Given the description of an element on the screen output the (x, y) to click on. 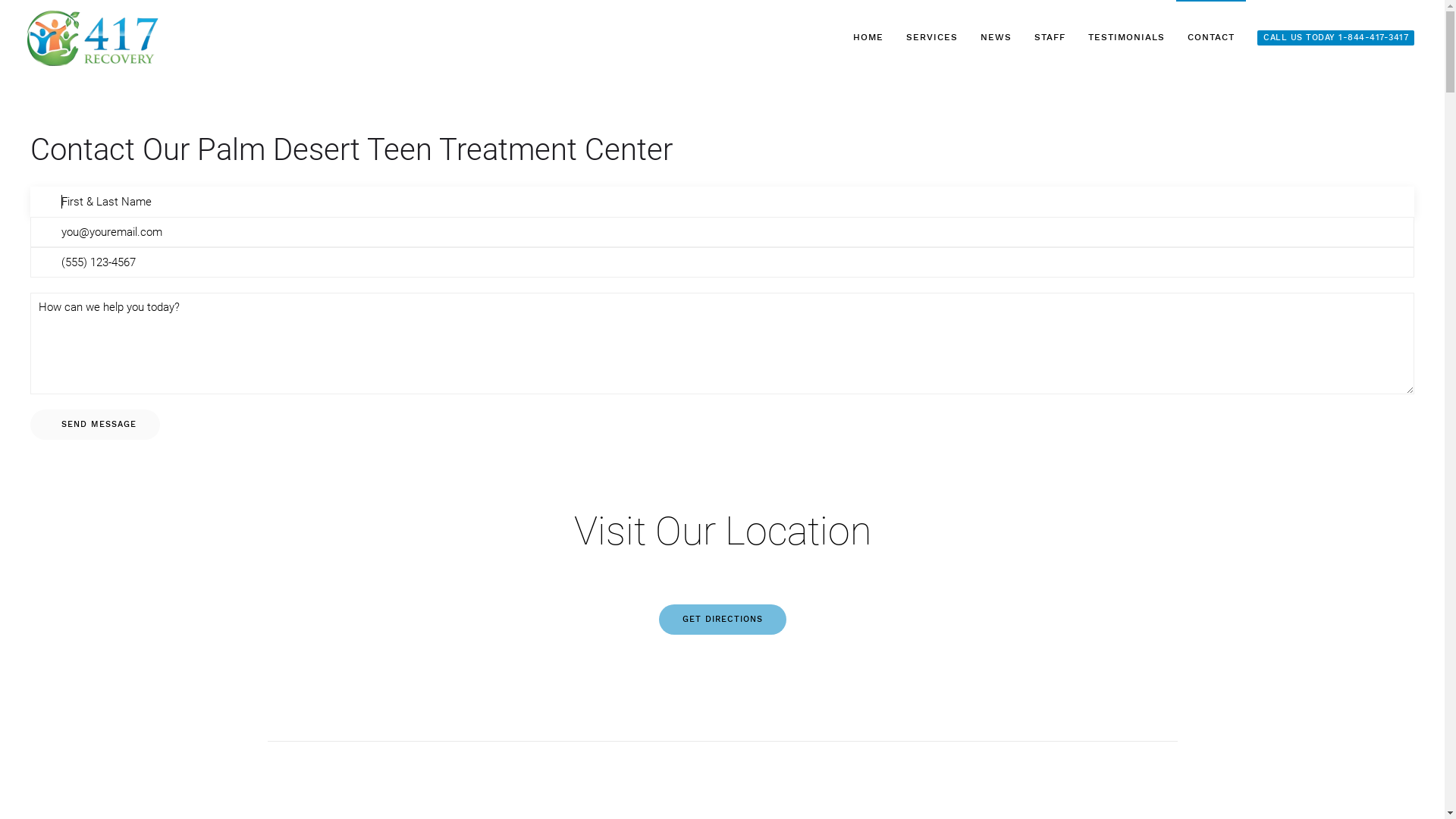
TESTIMONIALS Element type: text (1126, 37)
SERVICES Element type: text (931, 37)
STAFF Element type: text (1049, 37)
  SEND MESSAGE Element type: text (95, 424)
CONTACT Element type: text (1210, 37)
GET DIRECTIONS Element type: text (721, 619)
HOME Element type: text (867, 37)
NEWS Element type: text (995, 37)
